Given the description of an element on the screen output the (x, y) to click on. 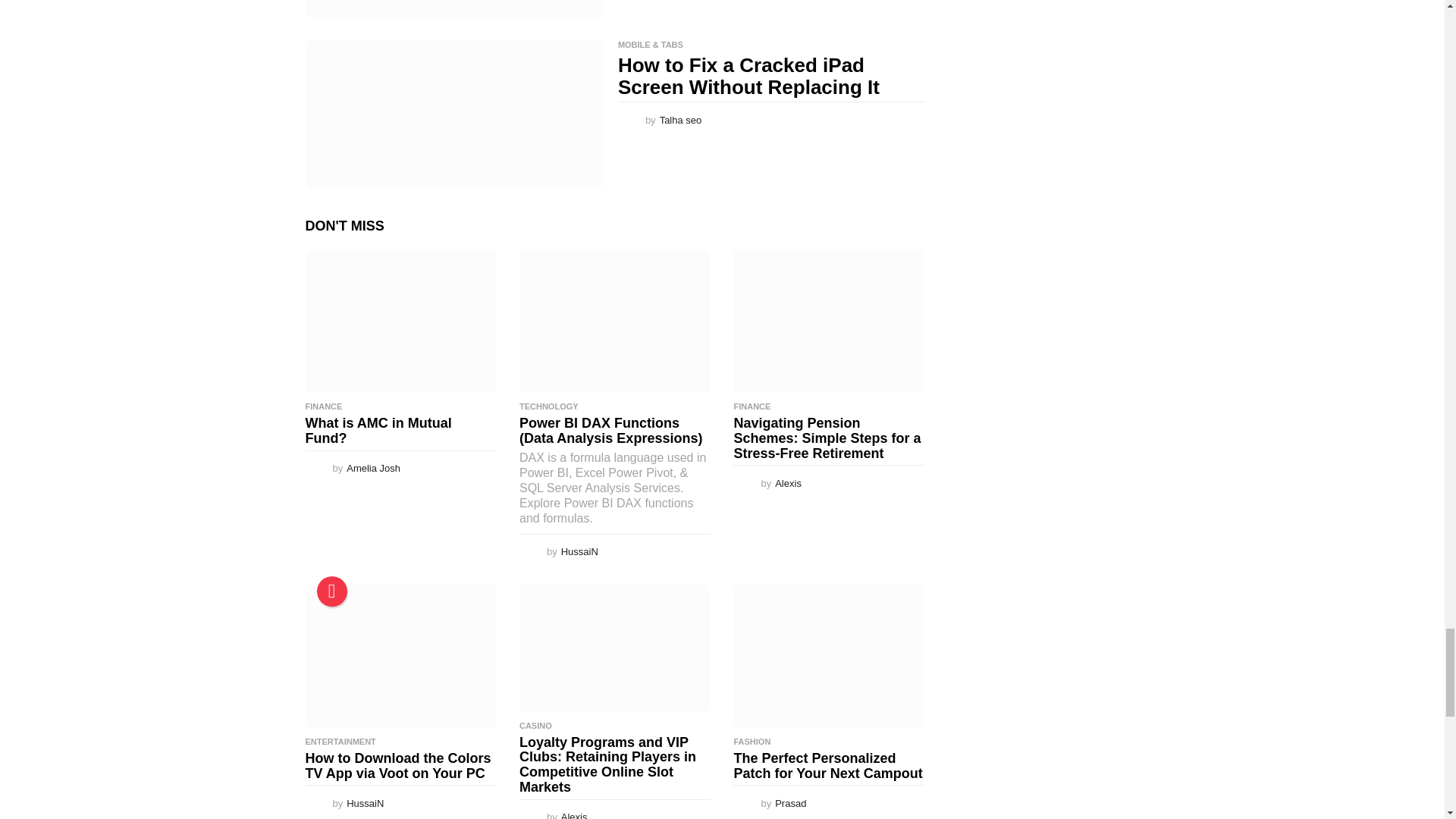
Basic Guide for Apple IPhone Trade In (453, 8)
How to Fix a Cracked iPad Screen Without Replacing It (453, 114)
